Given the description of an element on the screen output the (x, y) to click on. 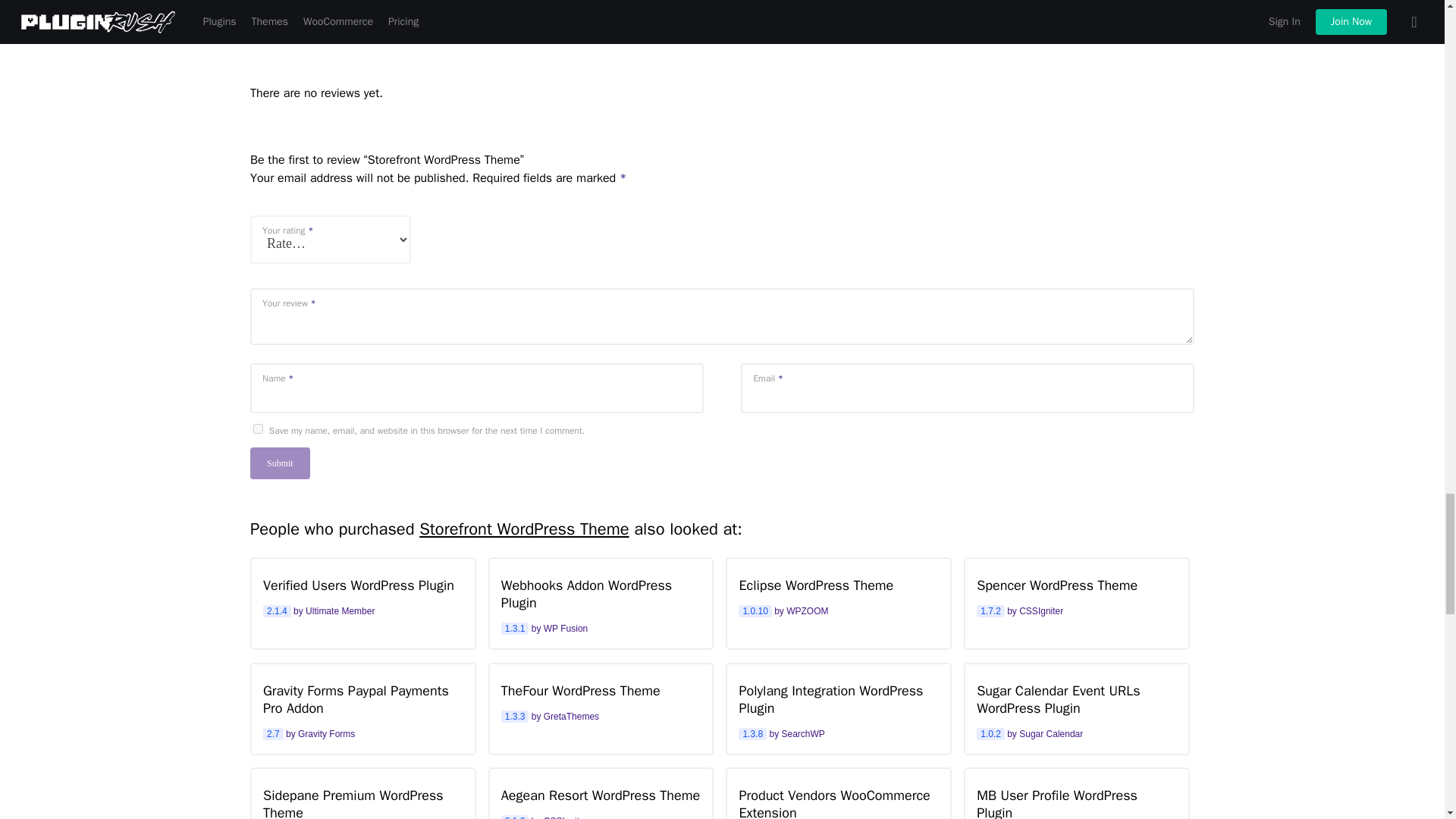
Submit (280, 463)
Submit (600, 602)
yes (363, 594)
